Given the description of an element on the screen output the (x, y) to click on. 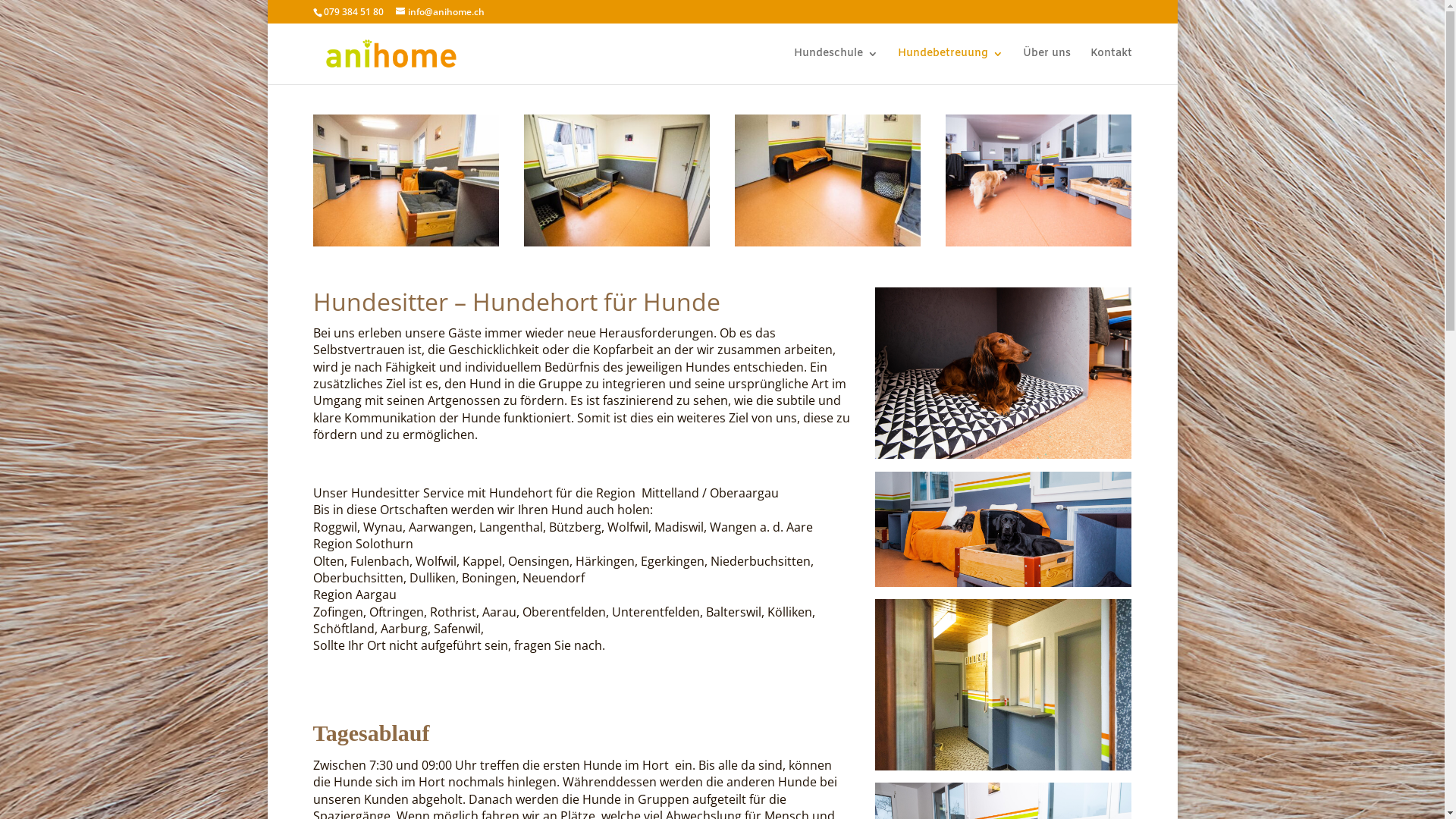
2020-12-22_Hundepensionl_004 Element type: hover (1003, 684)
Hundeschule Element type: text (835, 66)
2020 12 22 Hundepensionl 132 scaled Element type: hover (827, 241)
info@anihome.ch Element type: text (439, 11)
2020 12 22 Hundepensionl 033 scaled Element type: hover (1038, 241)
Kontakt Element type: text (1111, 66)
2020-12-22_Hundepensionl_013 Element type: hover (1003, 528)
2020 12 22 Hundepensionl 130 scaled Element type: hover (617, 241)
Hundebetreuung Element type: text (950, 66)
2020-12-22_Hundepensionl_072 Element type: hover (1003, 372)
2020 12 22 Hundepensionl 059 scaled Element type: hover (405, 241)
